Given the description of an element on the screen output the (x, y) to click on. 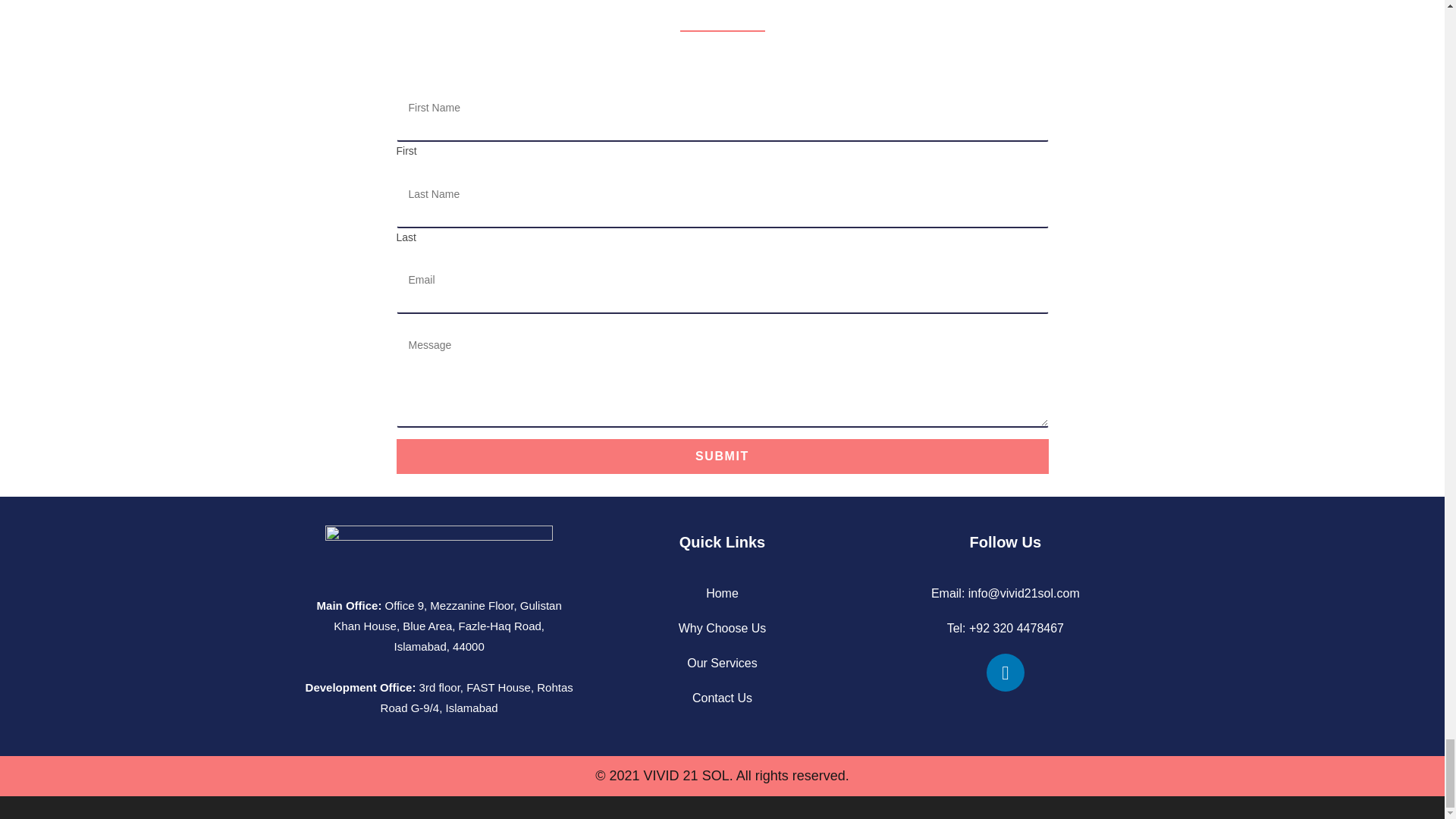
SUBMIT (722, 456)
Why Choose Us (722, 627)
Our Services (722, 662)
Contact Us (722, 697)
Home (722, 593)
